Given the description of an element on the screen output the (x, y) to click on. 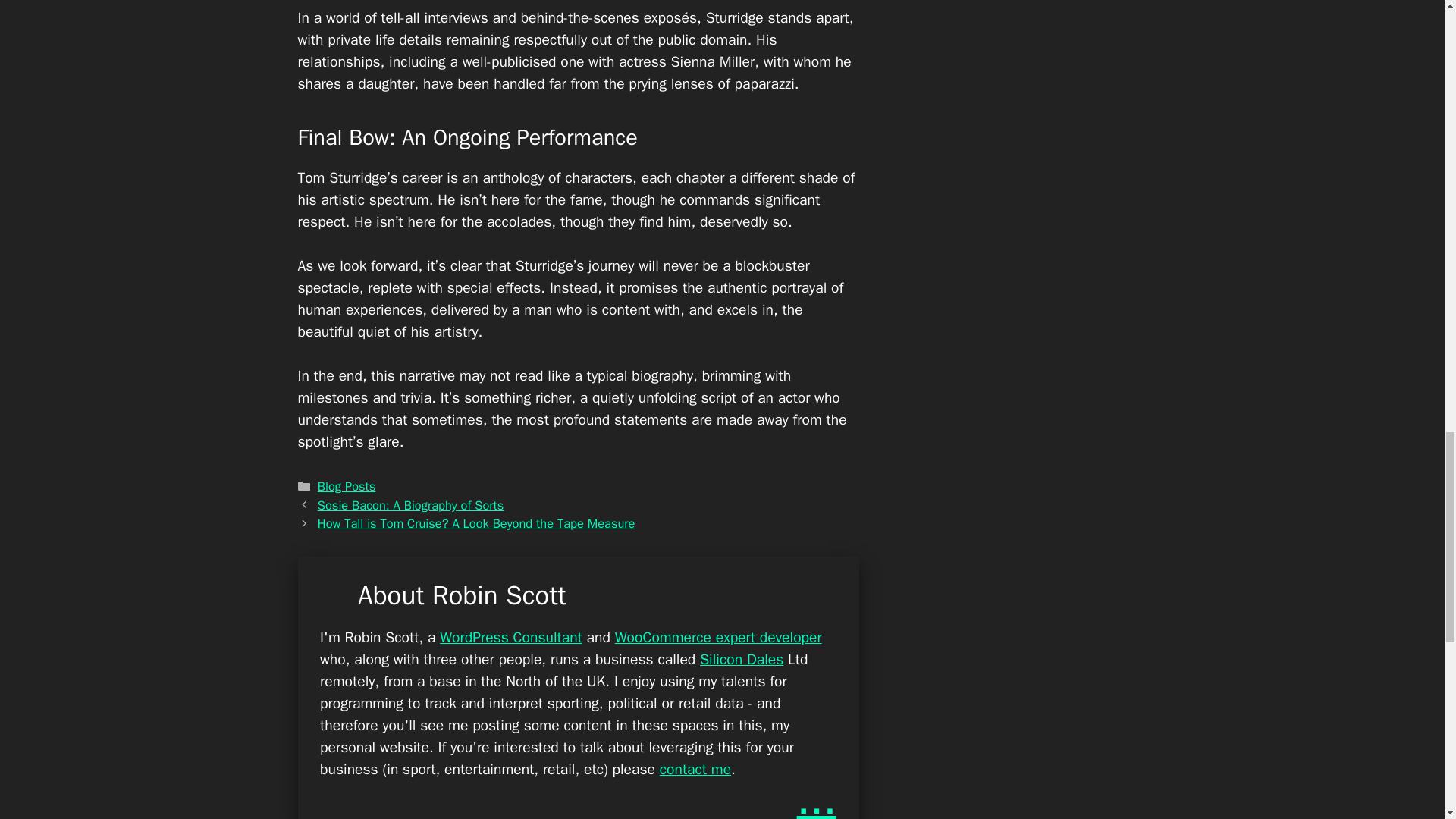
Sosie Bacon: A Biography of Sorts (410, 505)
WooCommerce expert developer (718, 637)
... (815, 798)
WordPress Consultant (510, 637)
How Tall is Tom Cruise? A Look Beyond the Tape Measure (475, 523)
contact me (694, 769)
Silicon Dales (741, 659)
Read more (815, 798)
Blog Posts (346, 486)
